Given the description of an element on the screen output the (x, y) to click on. 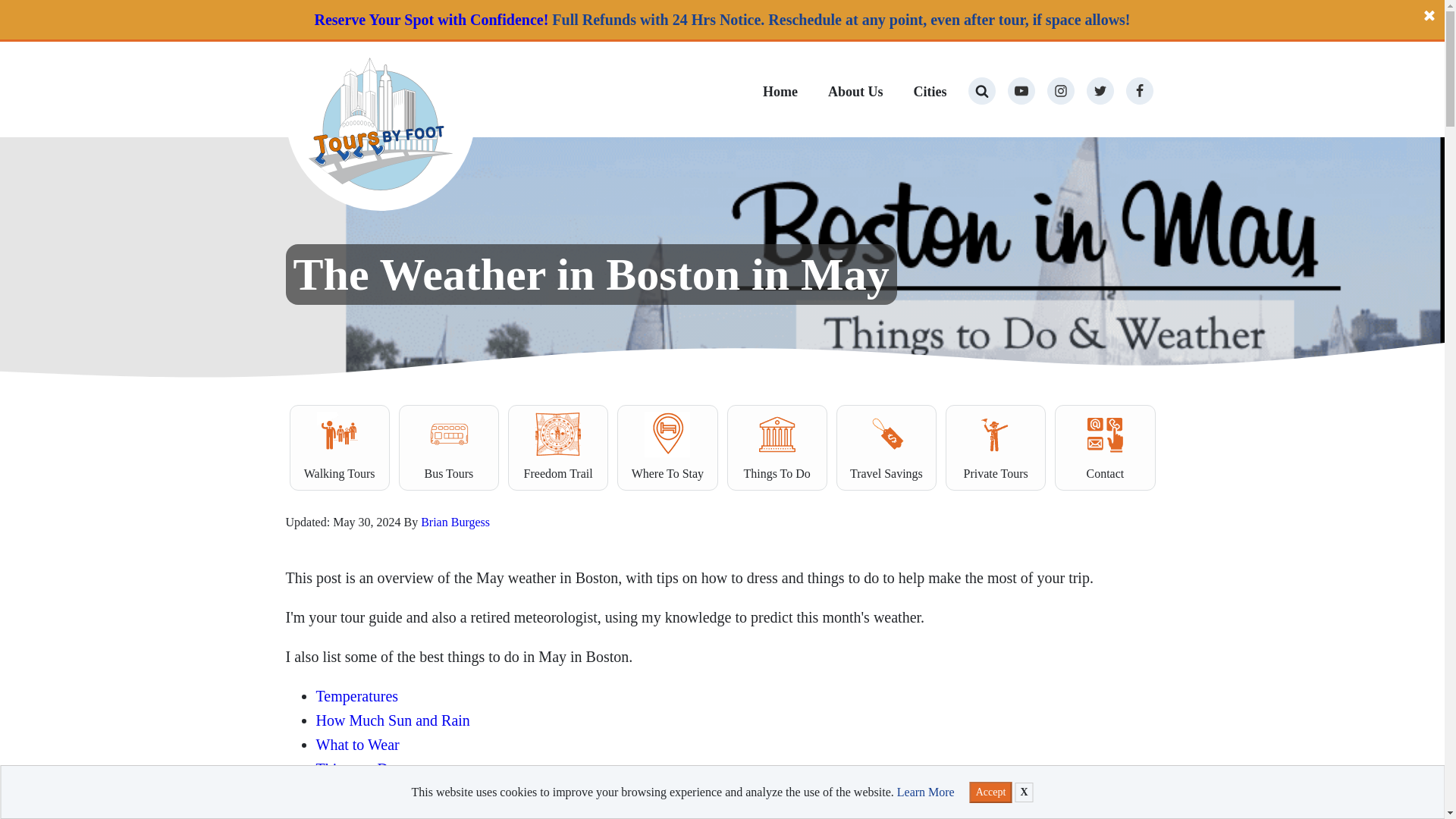
Walking Tours (339, 447)
X (1023, 792)
About Us (855, 93)
Where To Stay (667, 447)
Search (26, 14)
Bus Tours (448, 447)
Things To Do (776, 447)
Learn More (925, 791)
Reserve Your Spot with Confidence! (431, 19)
Freedom Trail (558, 447)
